Given the description of an element on the screen output the (x, y) to click on. 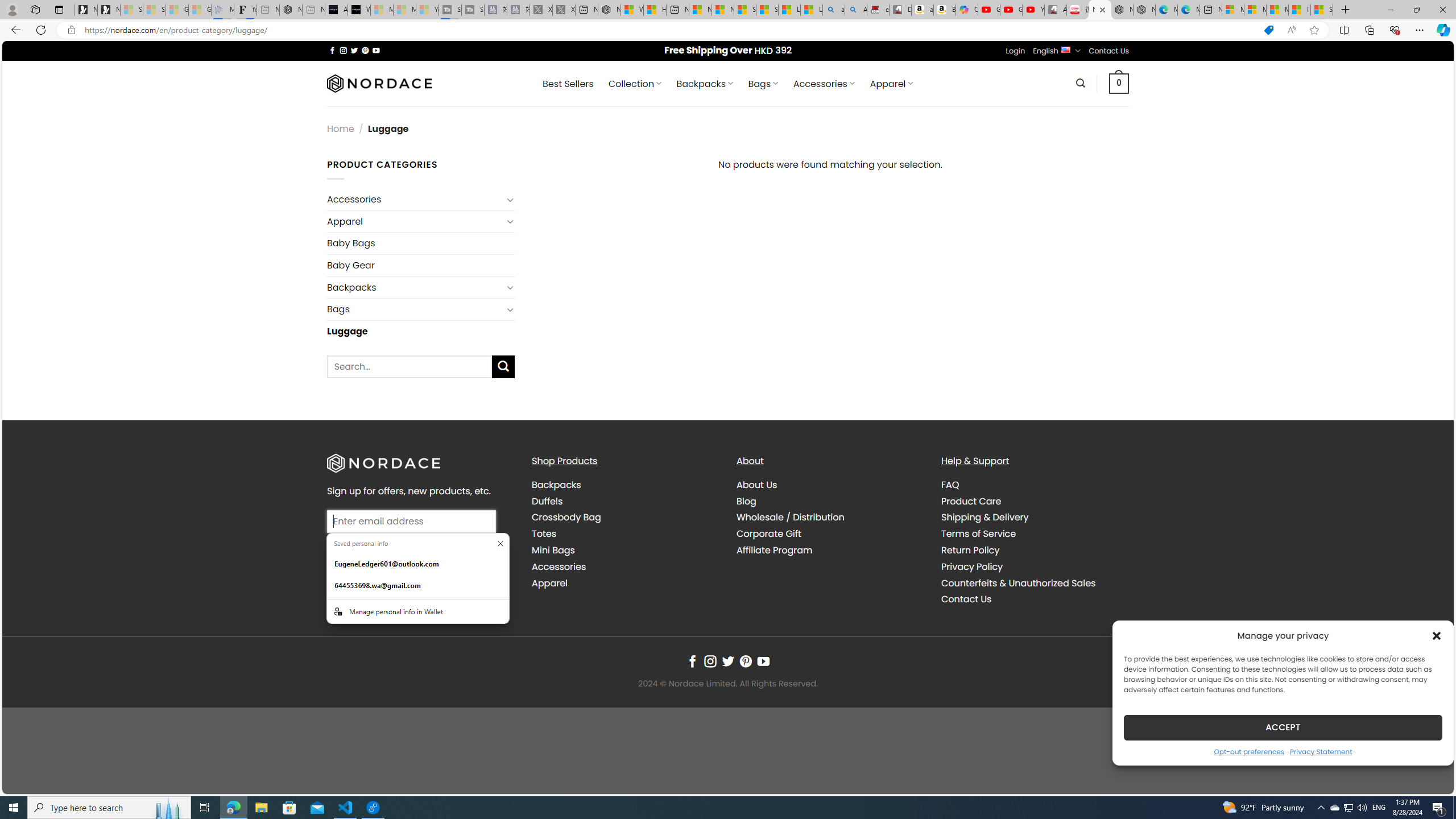
App bar (728, 29)
Follow on Twitter (727, 661)
amazon.in/dp/B0CX59H5W7/?tag=gsmcom05-21 (923, 9)
Contact Us (965, 599)
Accessories (625, 566)
View site information (70, 29)
Nordace (379, 83)
Microsoft Start Sports - Sleeping (381, 9)
